Given the description of an element on the screen output the (x, y) to click on. 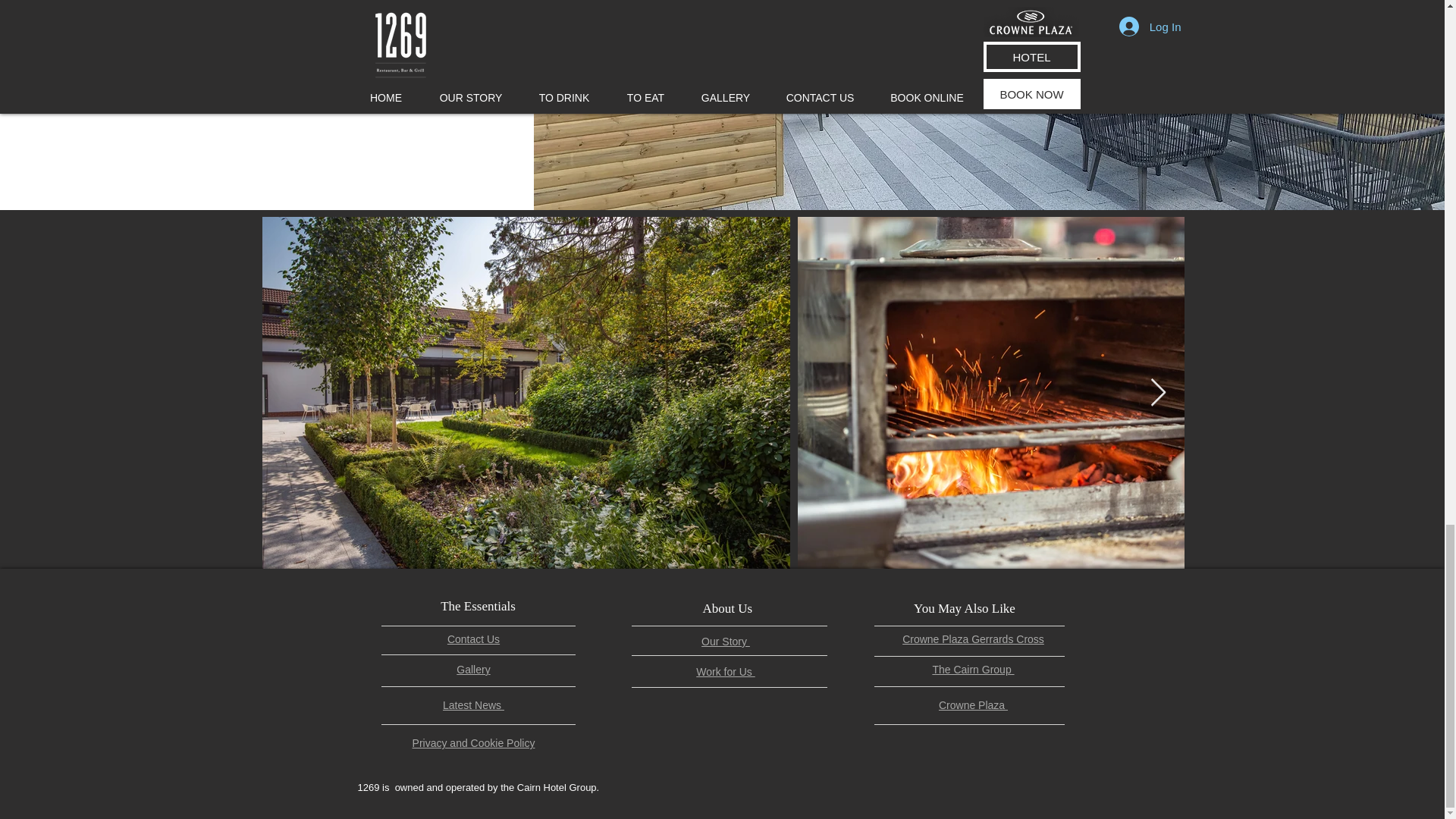
Crowne Plaza  (973, 705)
Latest News  (472, 705)
Crowne Plaza Gerrards Cross (972, 639)
Contact Us (472, 639)
The Cairn Group  (972, 669)
Our Story  (725, 641)
Work for Us  (725, 671)
Privacy and Cookie Policy (473, 743)
Gallery (473, 669)
